Given the description of an element on the screen output the (x, y) to click on. 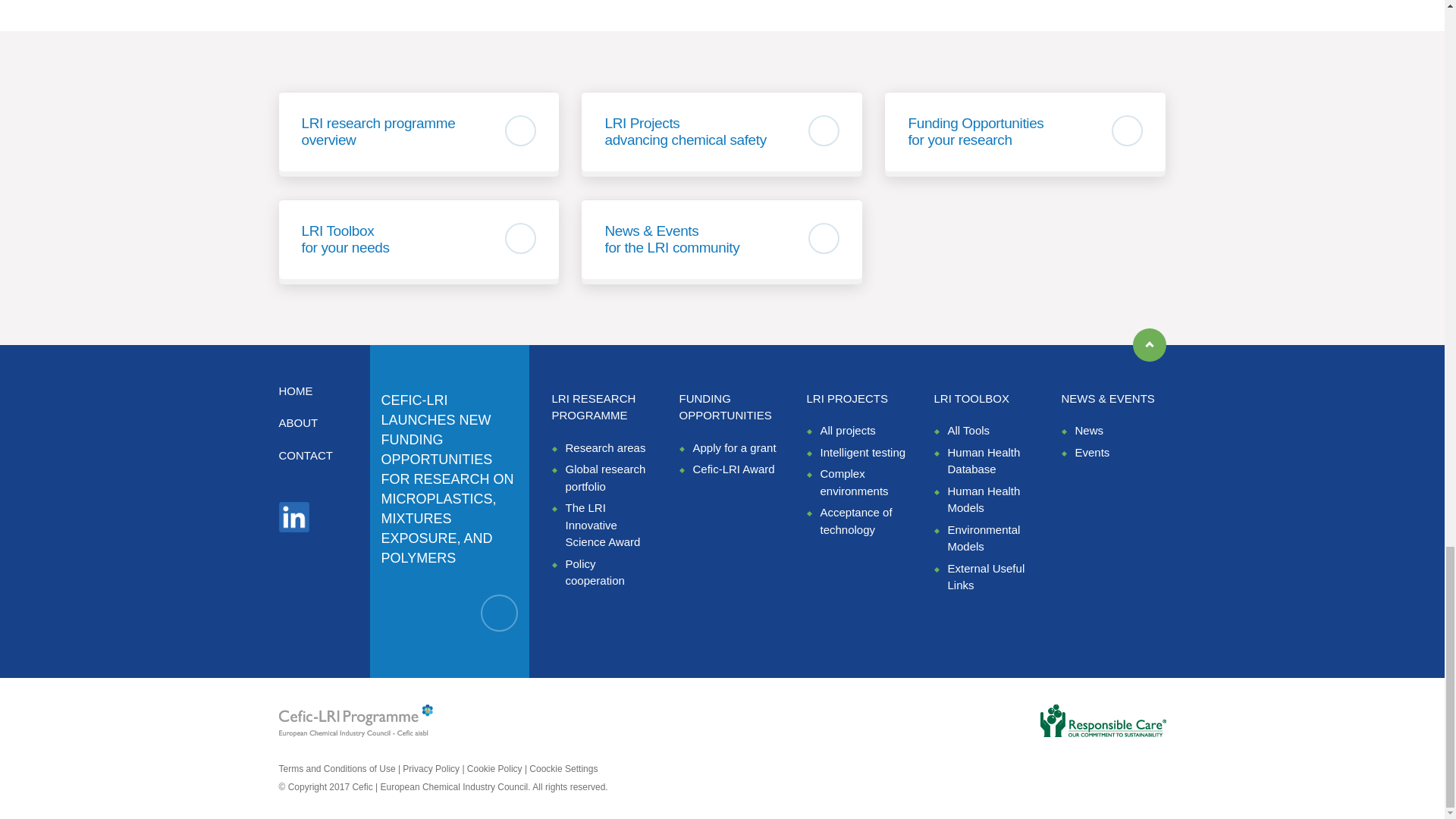
News (1089, 430)
